Given the description of an element on the screen output the (x, y) to click on. 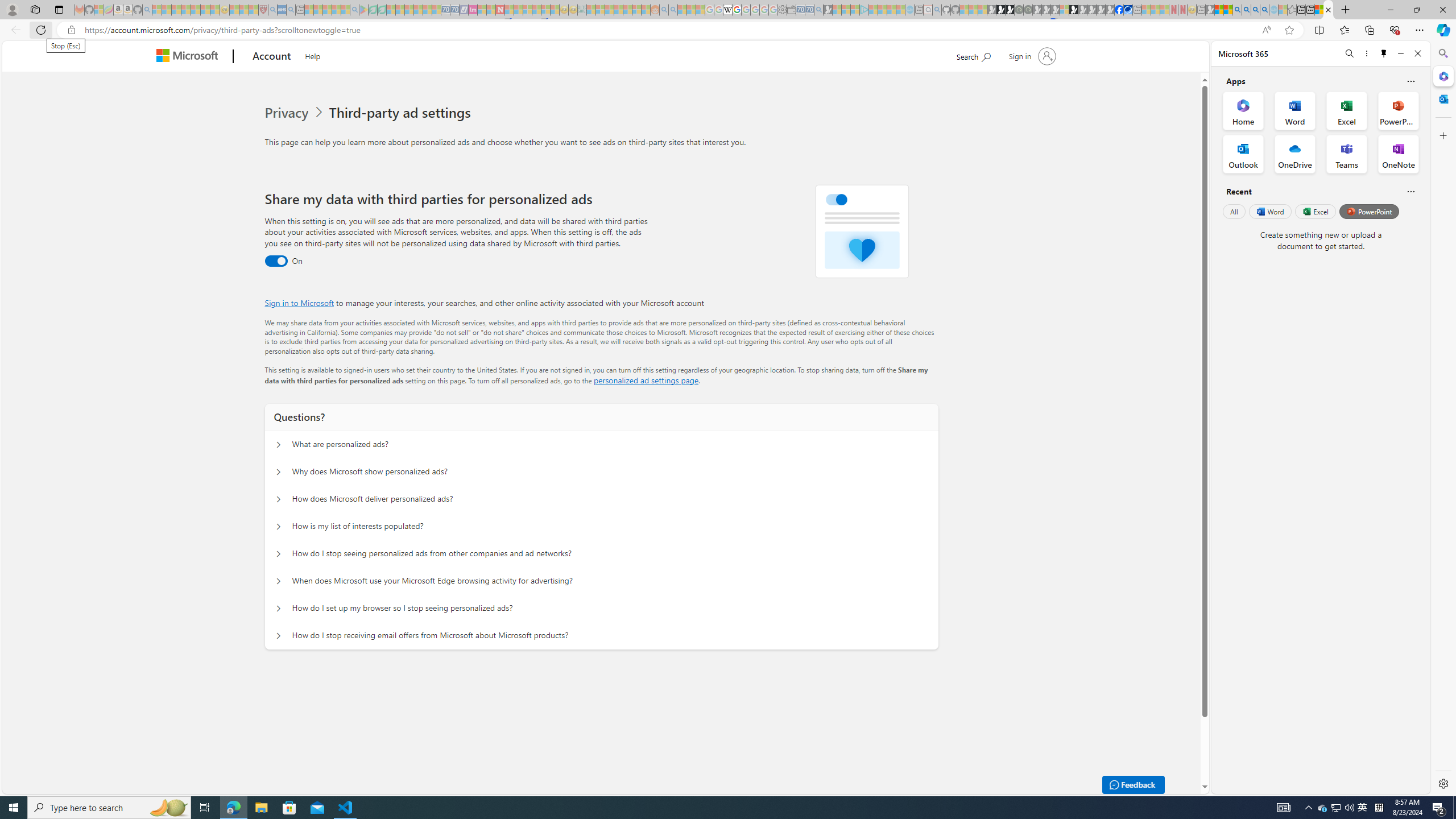
Questions? What are personalized ads? (278, 444)
Cheap Hotels - Save70.com - Sleeping (454, 9)
Utah sues federal government - Search - Sleeping (672, 9)
google - Search - Sleeping (354, 9)
